Given the description of an element on the screen output the (x, y) to click on. 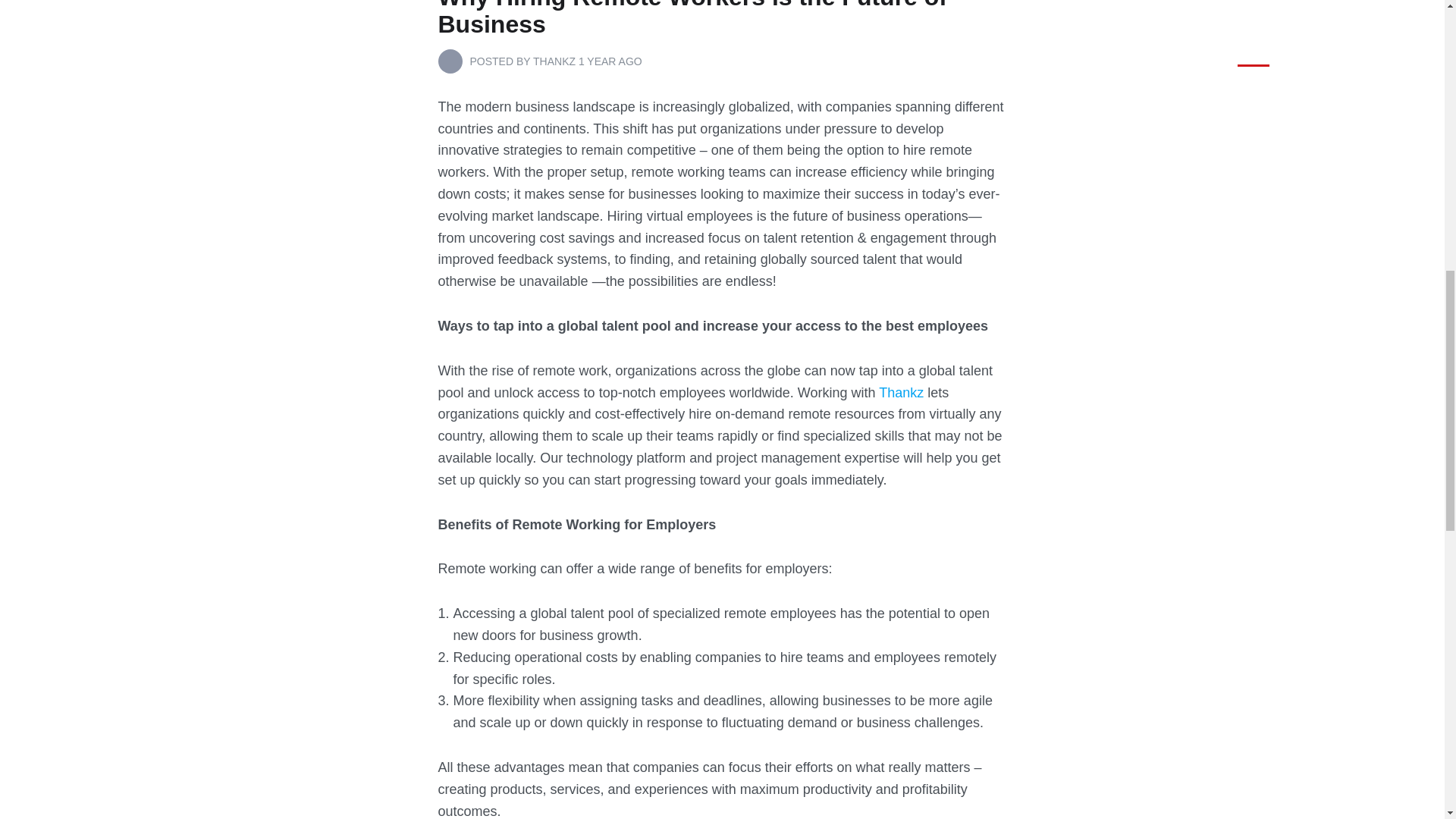
Thankz (901, 392)
